Given the description of an element on the screen output the (x, y) to click on. 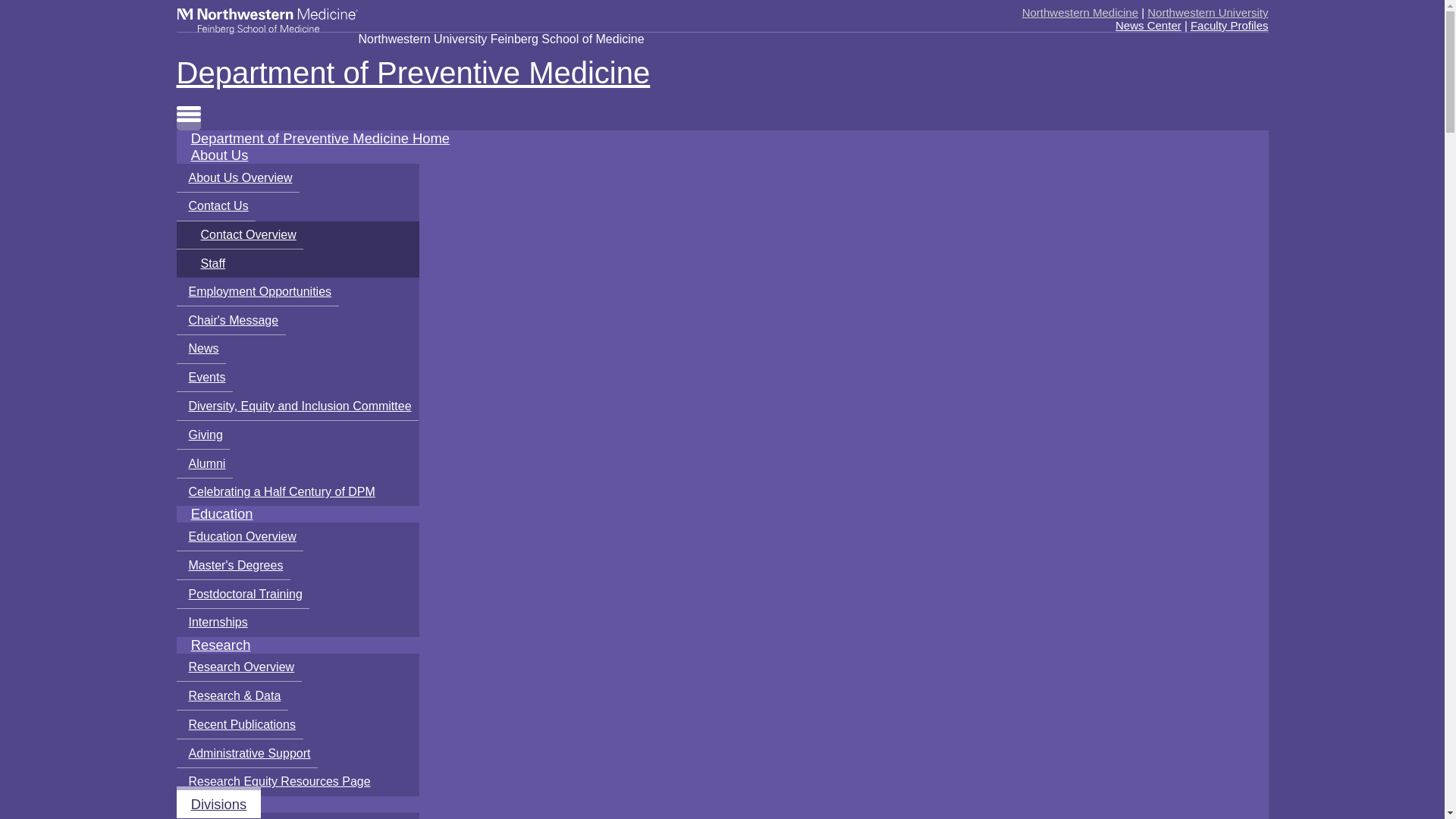
Divisions Overview (237, 816)
Administrative Support (246, 753)
About Us (219, 154)
Master's Degrees (232, 565)
Giving (203, 434)
Events (204, 378)
Department of Preventive Medicine (569, 72)
Chair's Message (230, 320)
Celebrating a Half Century of DPM (278, 492)
Employment Opportunities (256, 291)
Feinberg School of Medicine (267, 20)
Diversity, Equity and Inclusion Committee (297, 406)
Internships (215, 623)
Northwestern University (1207, 11)
